Given the description of an element on the screen output the (x, y) to click on. 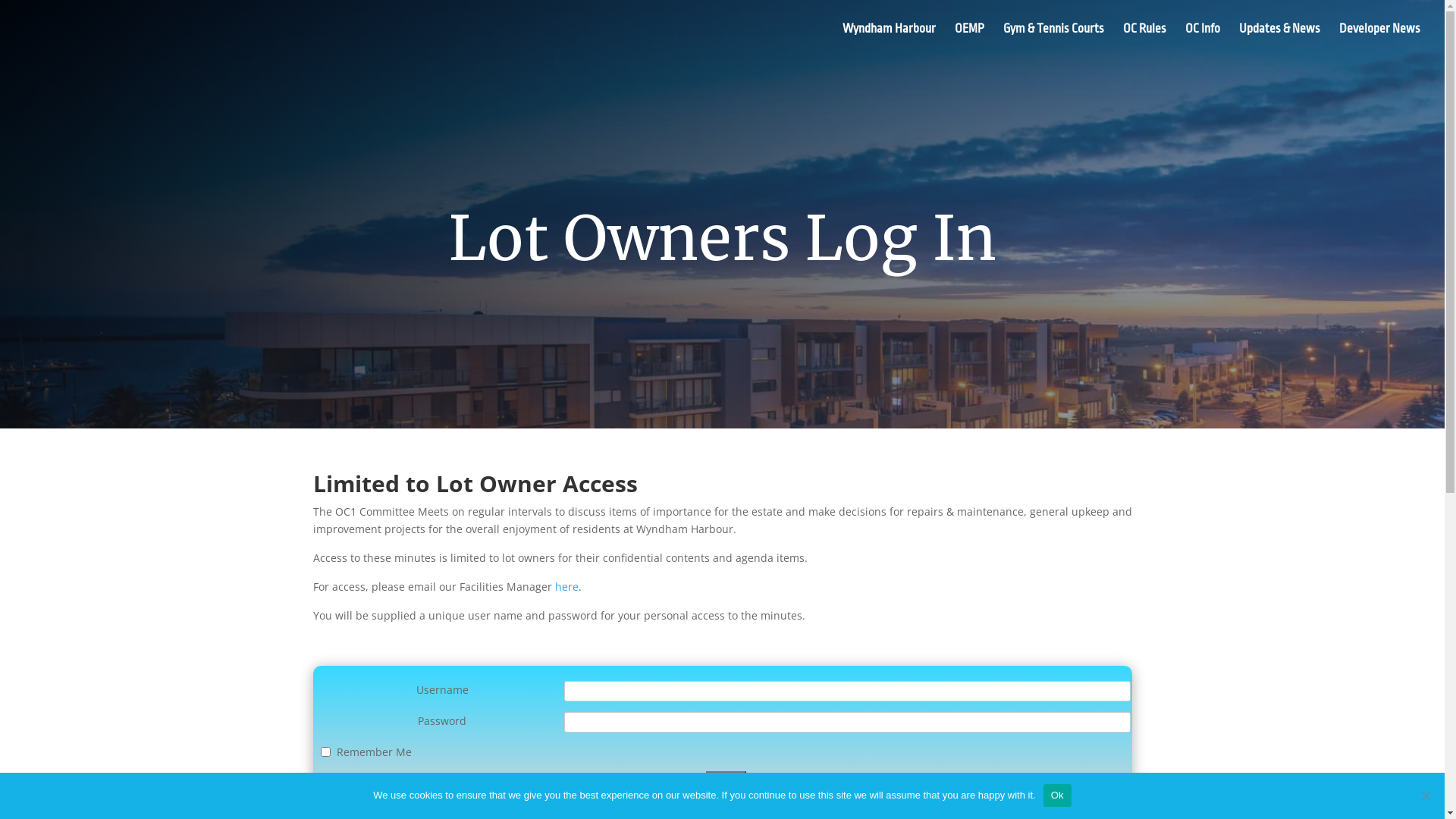
Developer News Element type: text (1379, 40)
here Element type: text (566, 586)
Gym & Tennis Courts Element type: text (1053, 40)
Log In Element type: text (726, 780)
OEMP Element type: text (969, 40)
Wyndham Harbour Element type: text (888, 40)
Ok Element type: text (1057, 795)
No Element type: hover (1425, 795)
Updates & News Element type: text (1279, 40)
OC Info Element type: text (1202, 40)
OC Rules Element type: text (1144, 40)
